Given the description of an element on the screen output the (x, y) to click on. 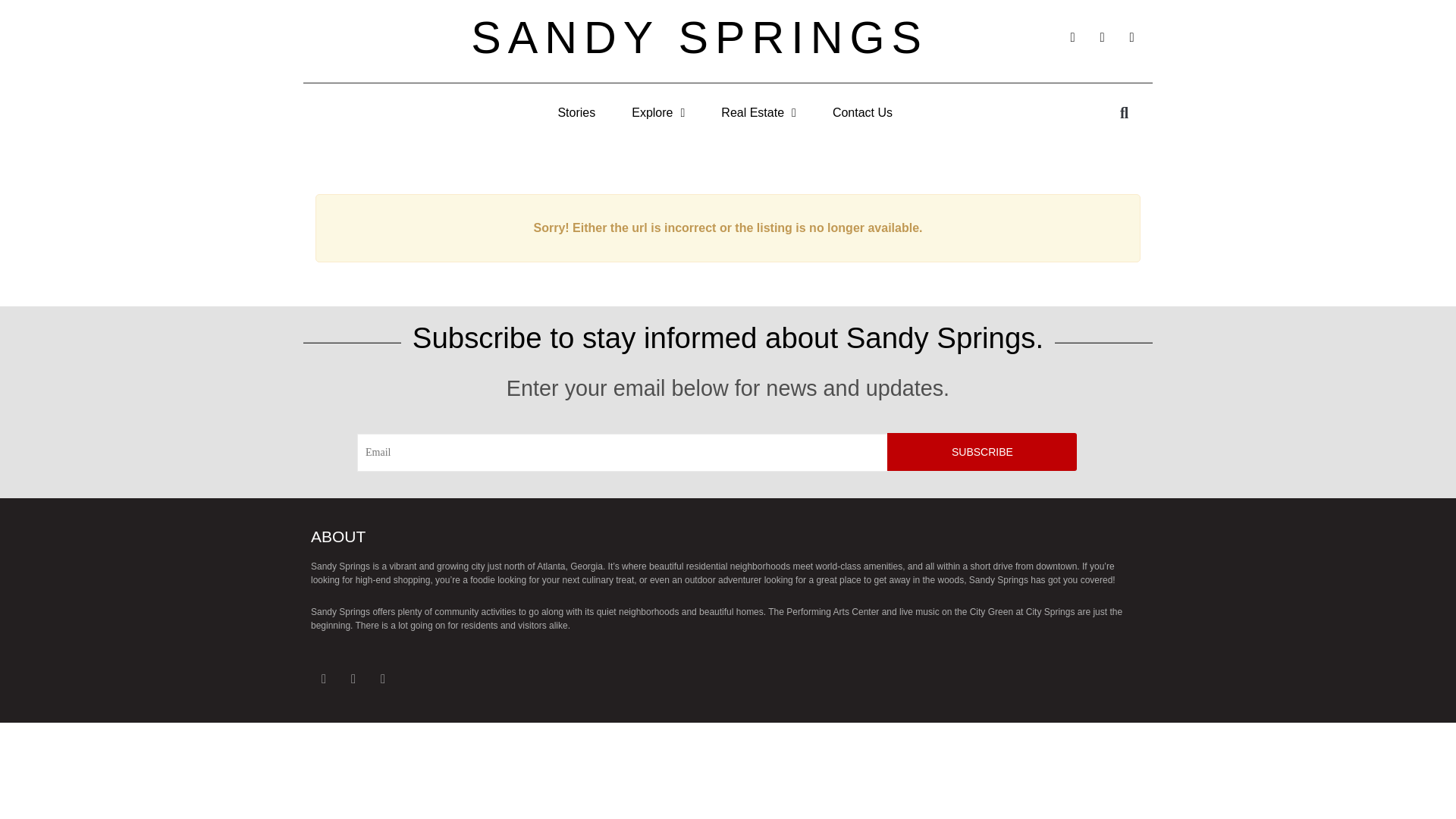
Contact Us (862, 112)
Stories (575, 112)
Explore (657, 112)
SUBSCRIBE (981, 451)
Real Estate (758, 112)
SANDY SPRINGS (699, 37)
